Given the description of an element on the screen output the (x, y) to click on. 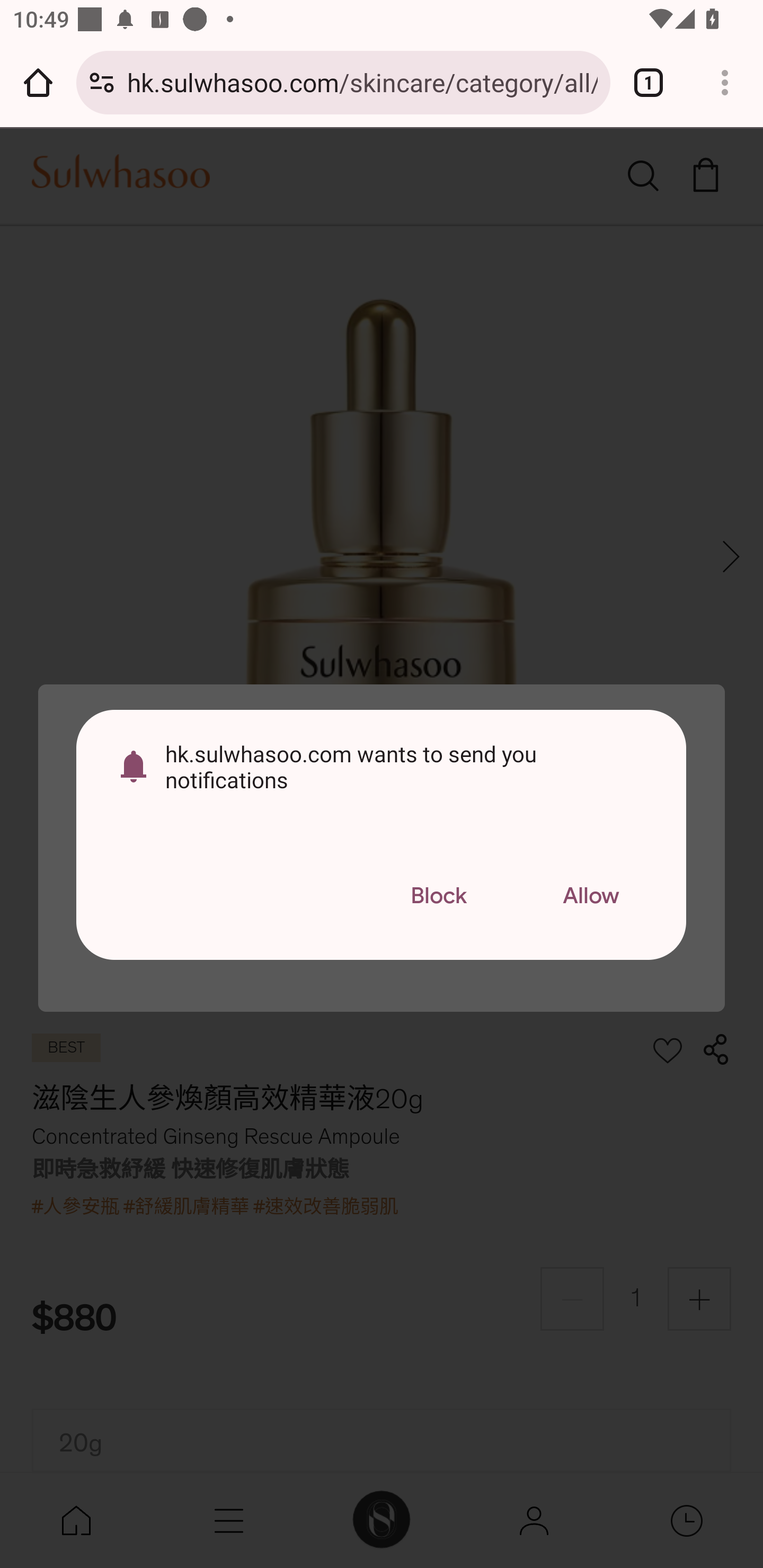
Open the home page (38, 82)
Connection is secure (101, 82)
Switch or close tabs (648, 82)
Customize and control Google Chrome (724, 82)
Block (438, 895)
Allow (590, 895)
